Given the description of an element on the screen output the (x, y) to click on. 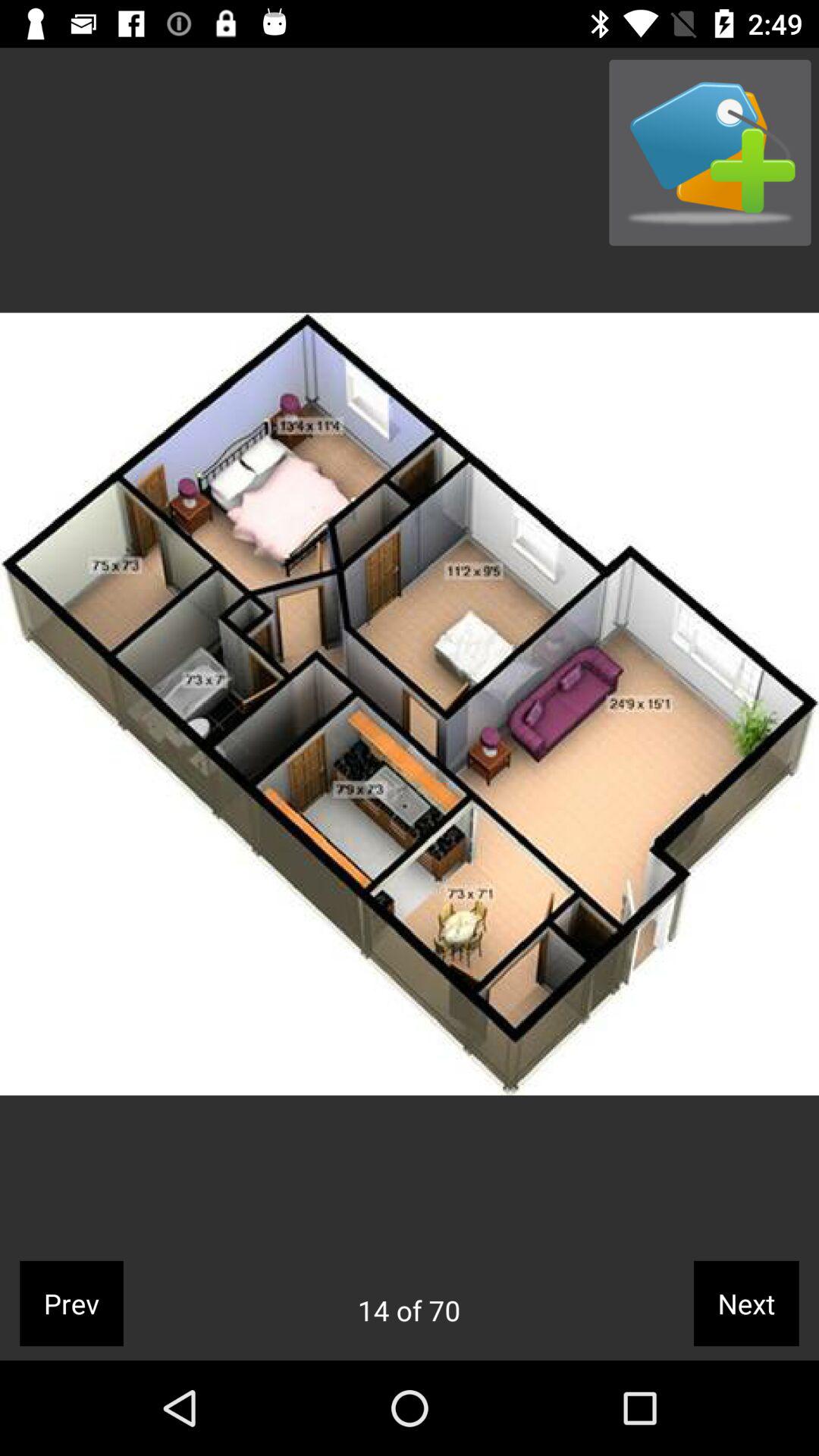
press icon at the bottom left corner (71, 1303)
